Given the description of an element on the screen output the (x, y) to click on. 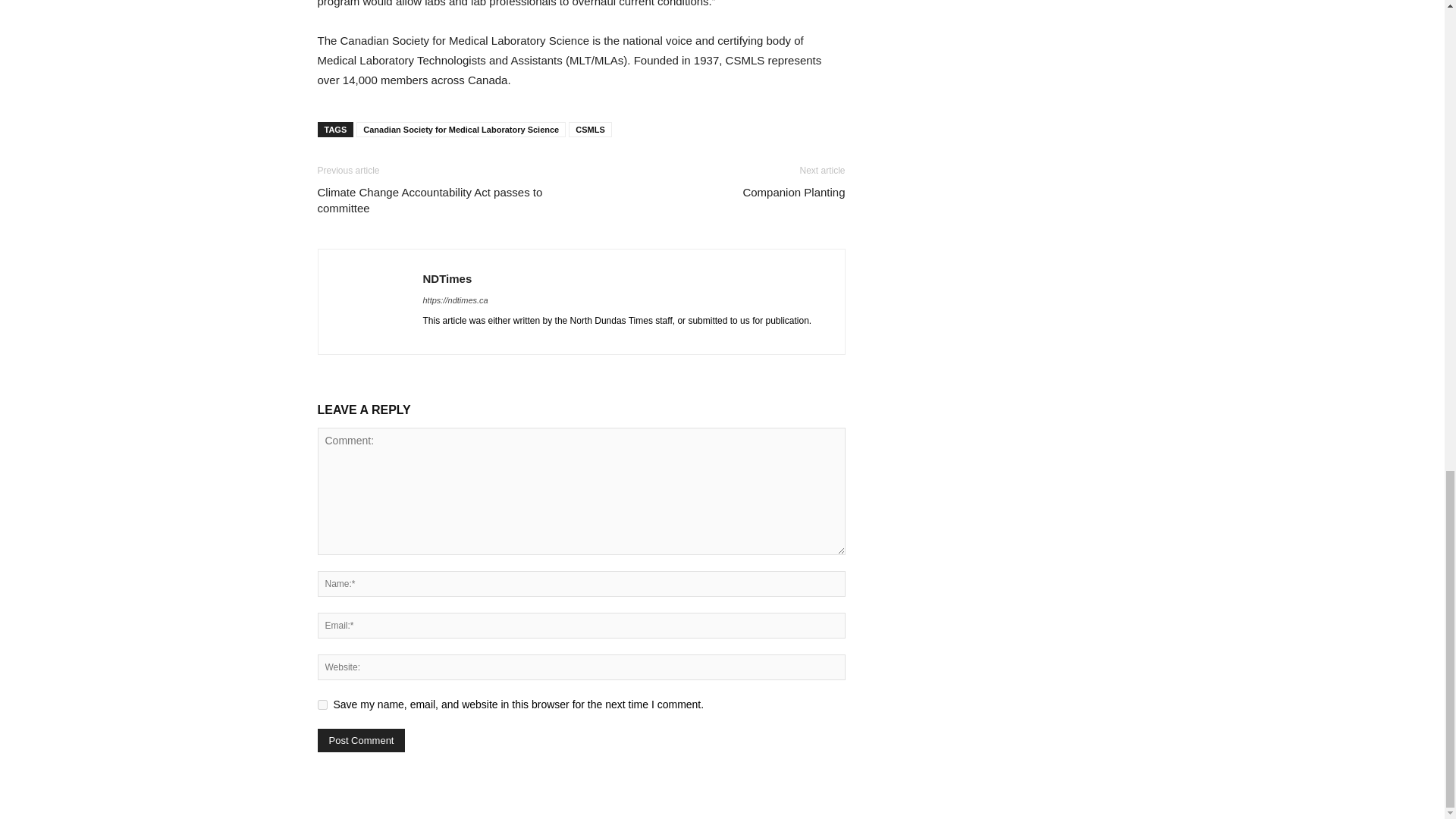
yes (321, 705)
Post Comment (360, 740)
